Given the description of an element on the screen output the (x, y) to click on. 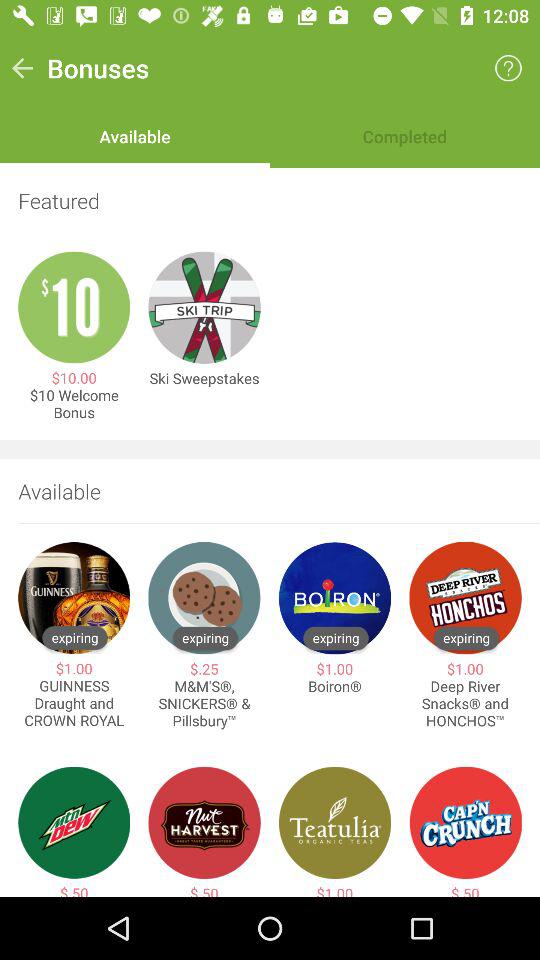
turn on the icon below the $1.00 icon (74, 703)
